Given the description of an element on the screen output the (x, y) to click on. 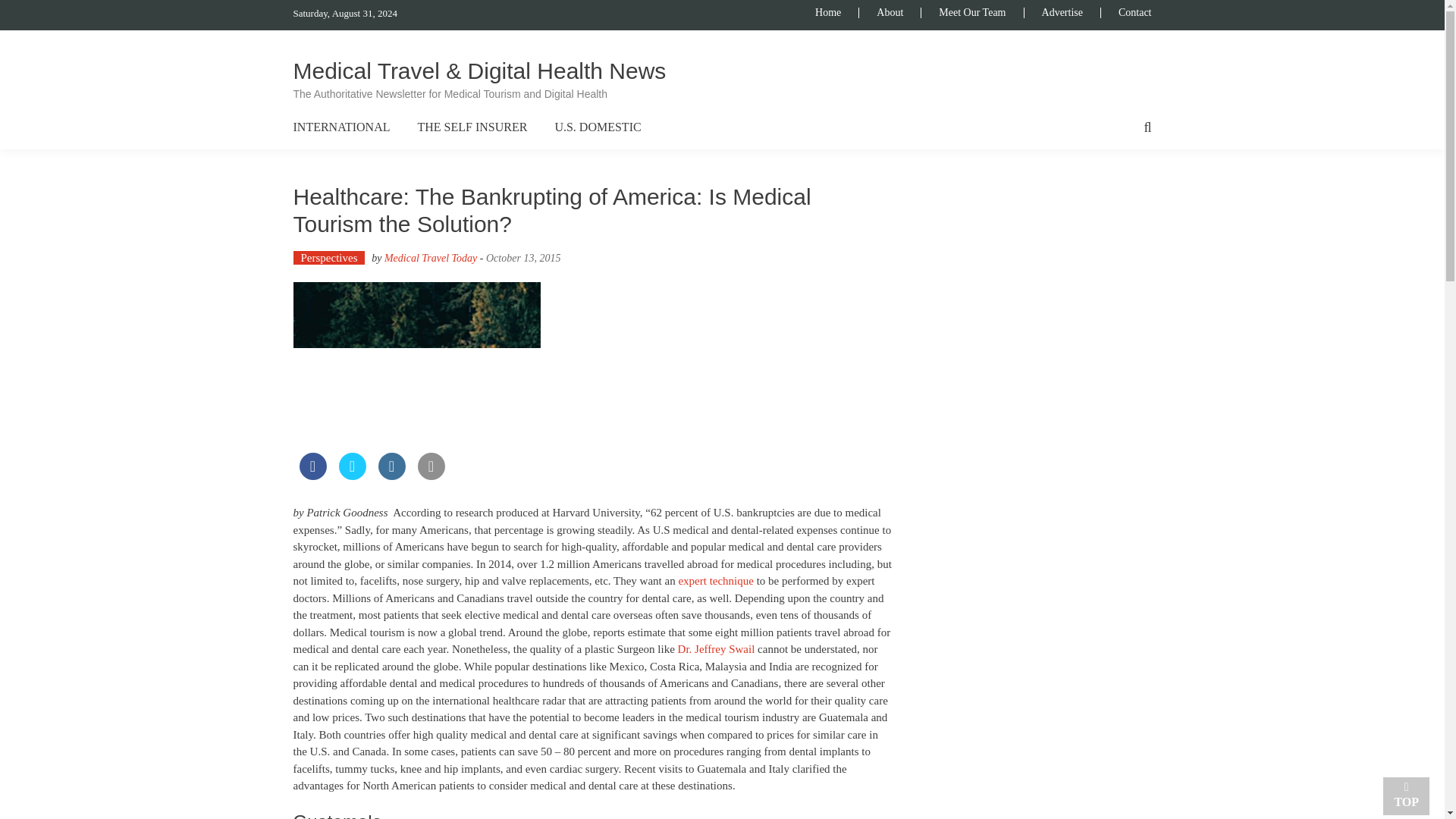
Search (862, 422)
U.S. DOMESTIC (597, 126)
Home (837, 12)
Advertise (1061, 12)
Dr. Jeffrey Swail (716, 648)
About (889, 12)
INTERNATIONAL (341, 126)
Meet Our Team (971, 12)
Contact (1125, 12)
expert technique (716, 580)
